Given the description of an element on the screen output the (x, y) to click on. 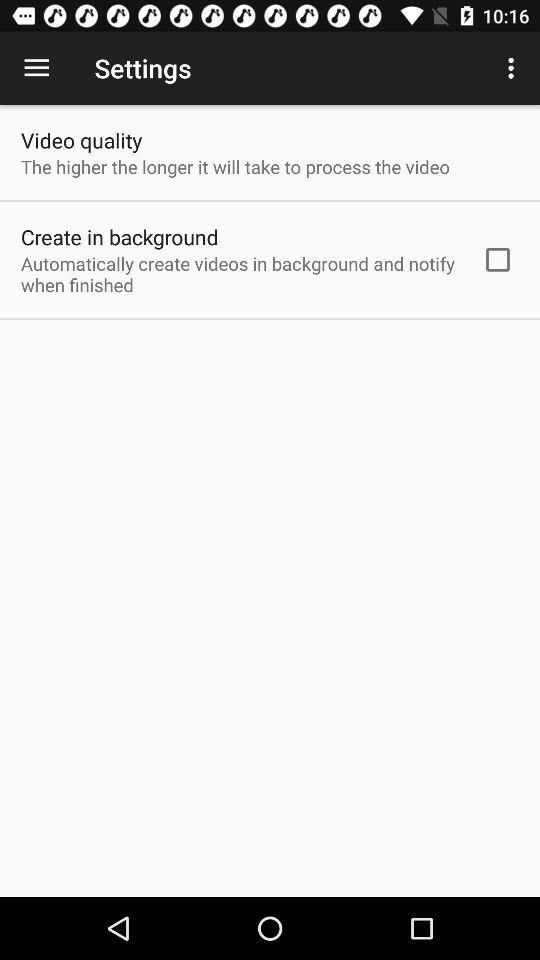
open icon below create in background (238, 274)
